Given the description of an element on the screen output the (x, y) to click on. 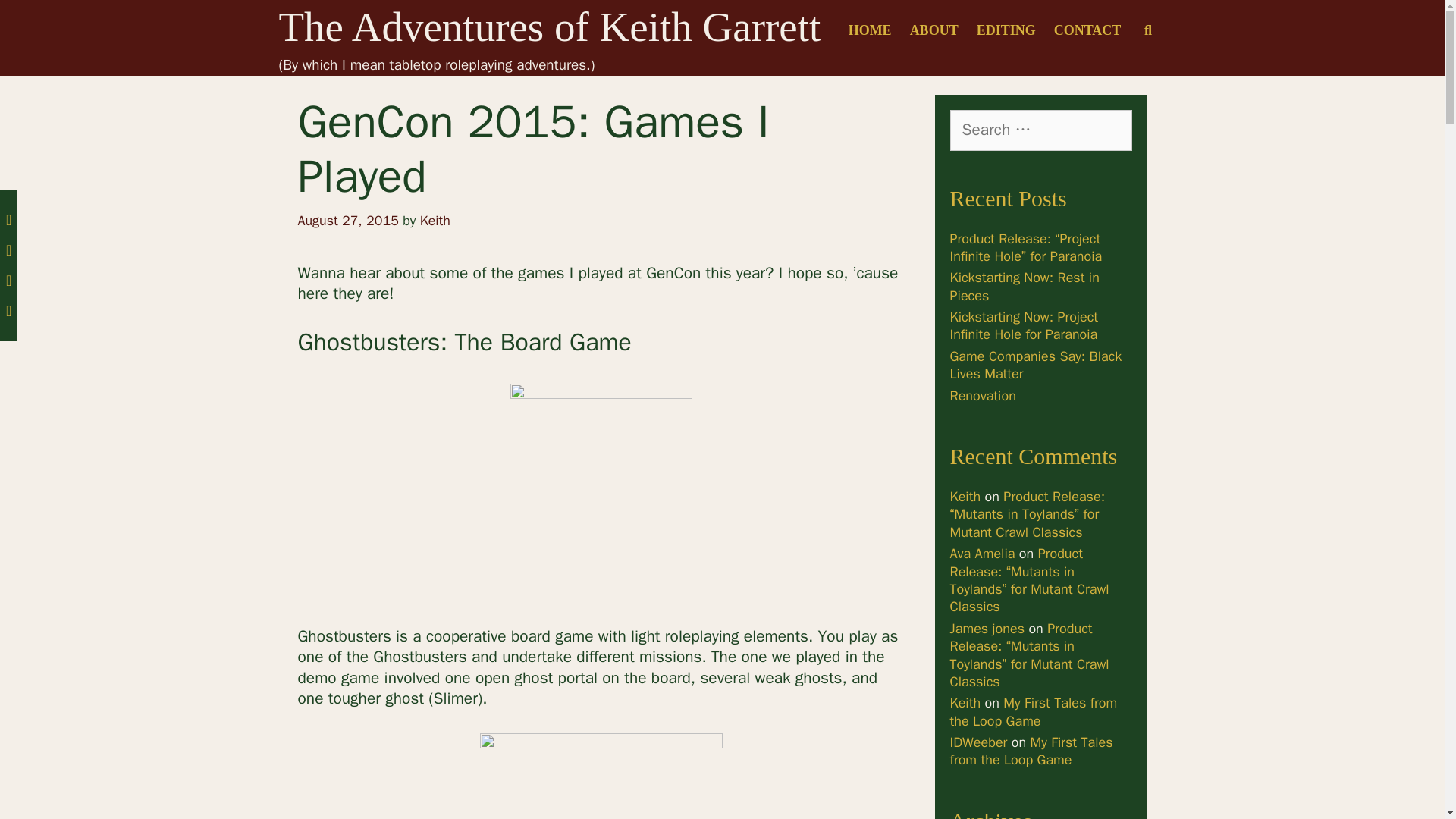
HOME (870, 30)
ABOUT (934, 30)
10:55 pm (347, 220)
The Adventures of Keith Garrett (550, 26)
View all posts by Keith (434, 220)
August 27, 2015 (347, 220)
Keith (434, 220)
EDITING (1006, 30)
Search (34, 18)
Search for: (1040, 129)
